Given the description of an element on the screen output the (x, y) to click on. 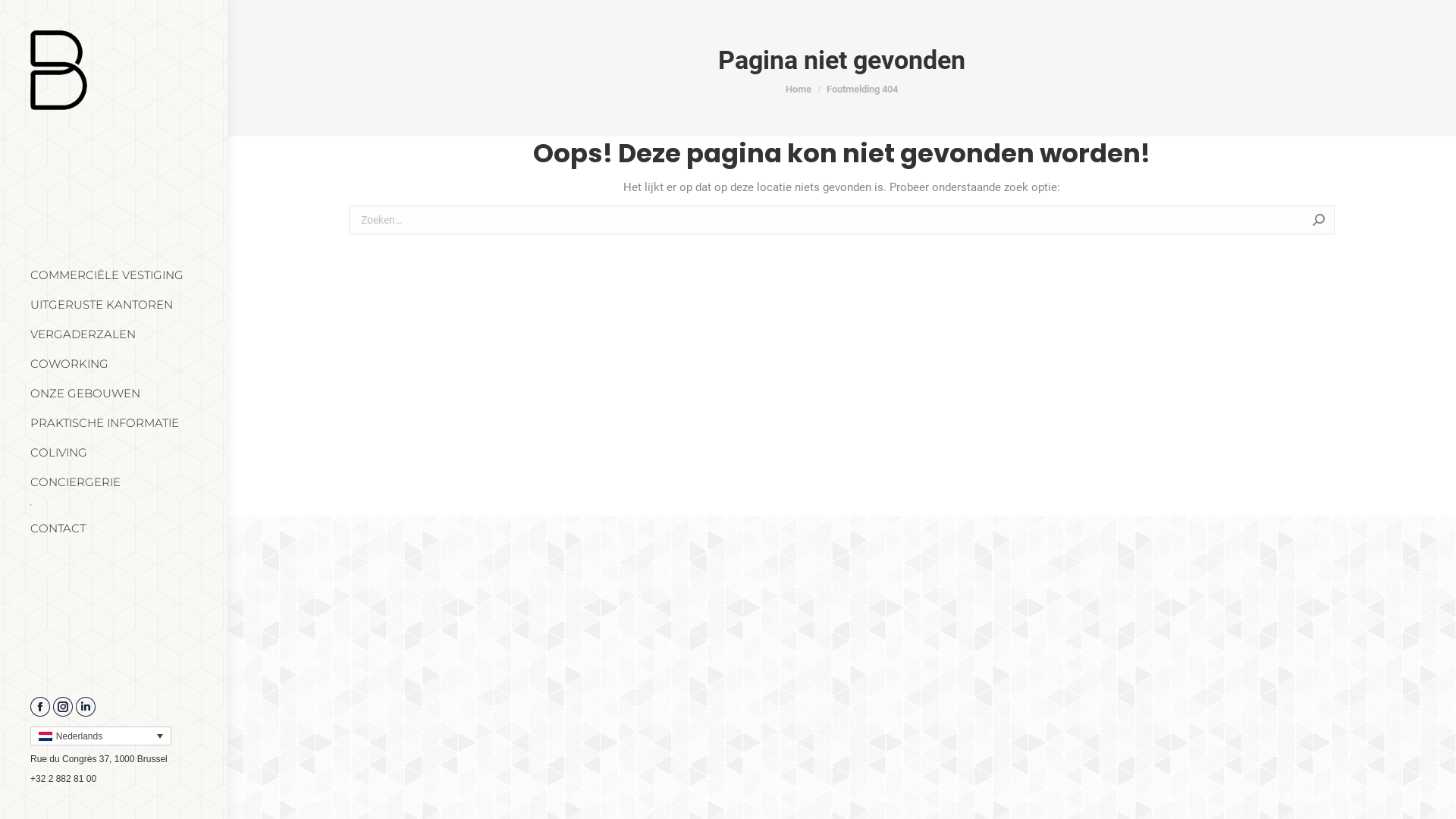
CONTACT Element type: text (57, 527)
Home Element type: text (798, 88)
Go! Element type: text (1357, 221)
VERGADERZALEN Element type: text (82, 333)
ONZE GEBOUWEN Element type: text (85, 392)
PRAKTISCHE INFORMATIE Element type: text (104, 422)
Linkedin page opens in new window Element type: text (85, 706)
UITGERUSTE KANTOREN Element type: text (101, 304)
COWORKING Element type: text (69, 363)
Instagram page opens in new window Element type: text (62, 706)
Nederlands Element type: text (100, 735)
CONCIERGERIE Element type: text (75, 481)
COLIVING Element type: text (58, 452)
Facebook page opens in new window Element type: text (40, 706)
+32 2 882 81 00 Element type: text (63, 778)
